Given the description of an element on the screen output the (x, y) to click on. 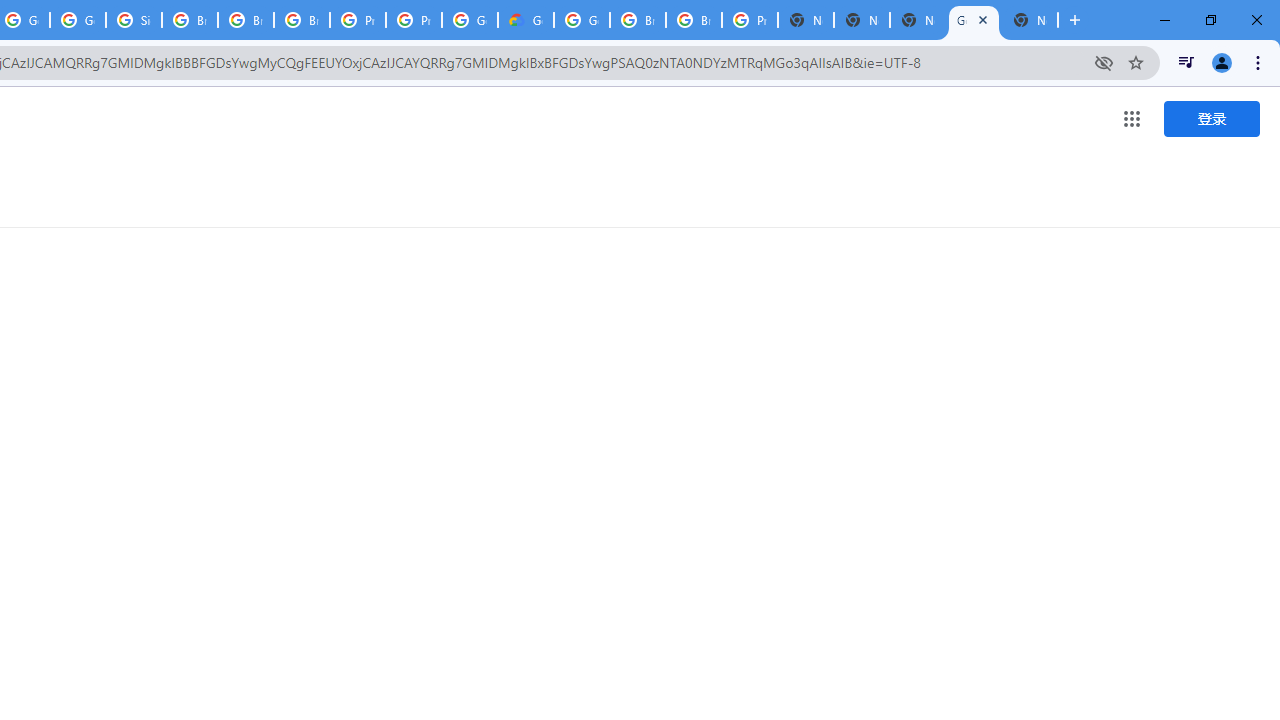
New Tab (806, 20)
Browse Chrome as a guest - Computer - Google Chrome Help (693, 20)
Google Cloud Platform (582, 20)
Sign in - Google Accounts (134, 20)
Browse Chrome as a guest - Computer - Google Chrome Help (189, 20)
Google Cloud Platform (469, 20)
Browse Chrome as a guest - Computer - Google Chrome Help (245, 20)
